Given the description of an element on the screen output the (x, y) to click on. 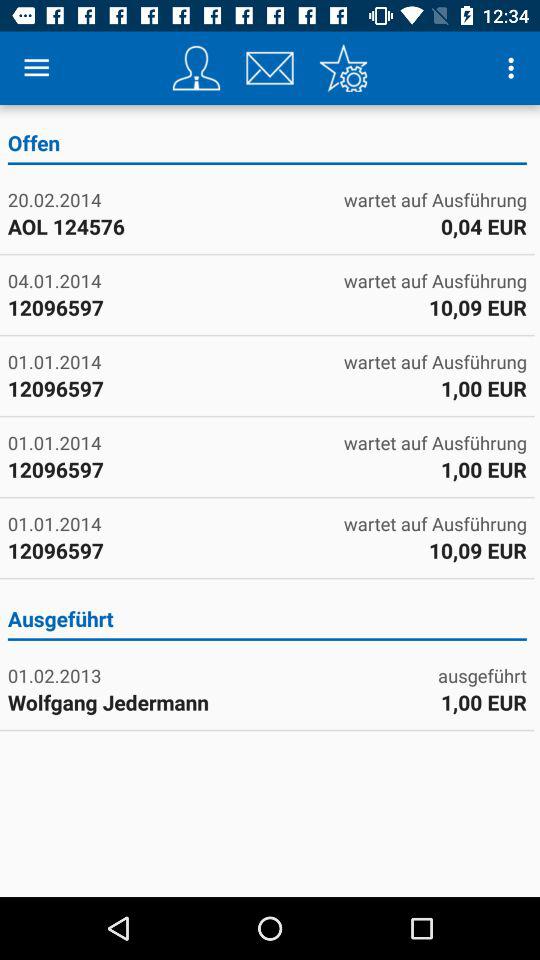
turn off icon below the 01.02.2013 item (135, 702)
